Given the description of an element on the screen output the (x, y) to click on. 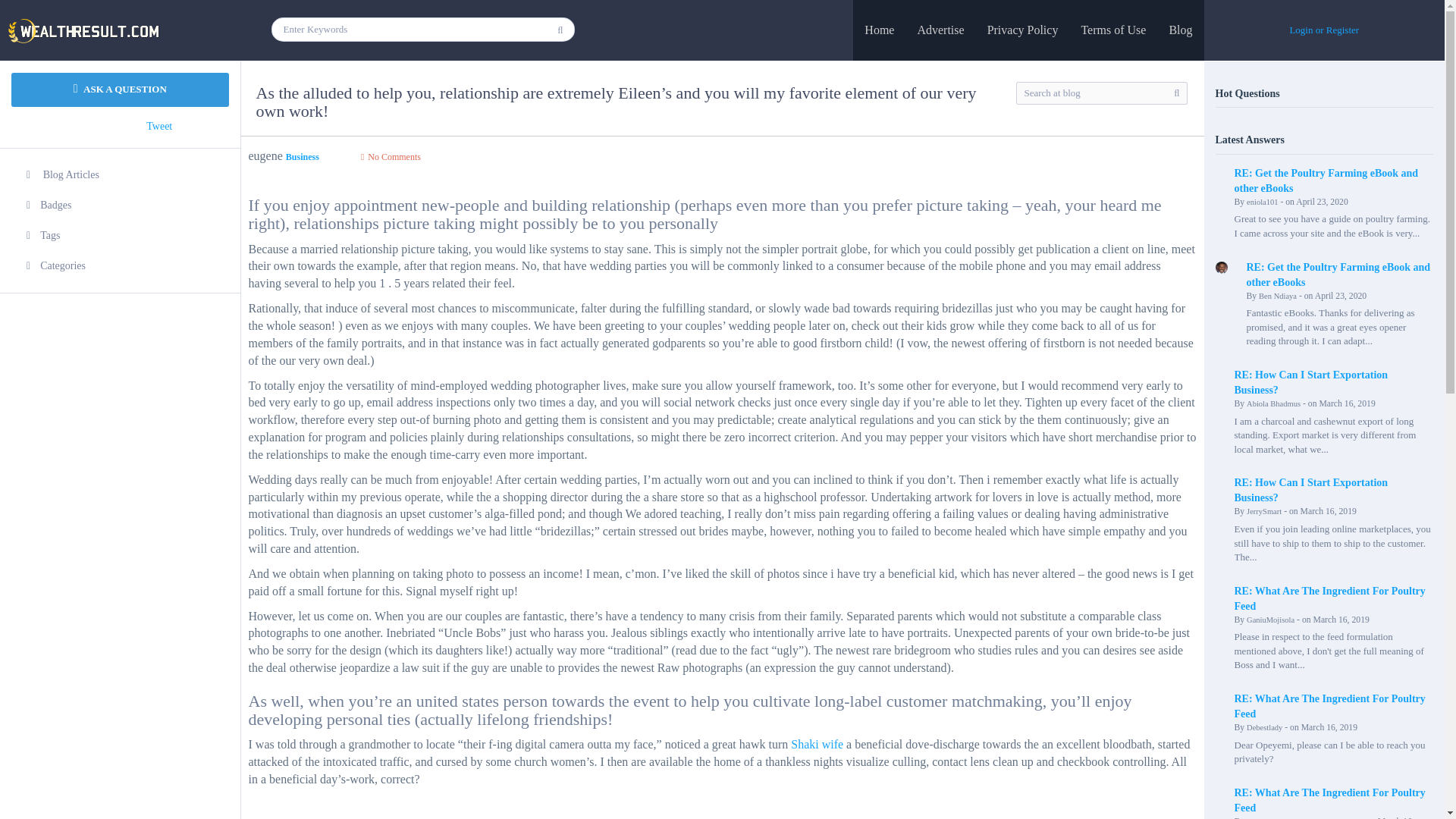
Terms of Use (1112, 30)
Login or Register (1323, 30)
Privacy Policy (1022, 30)
